Given the description of an element on the screen output the (x, y) to click on. 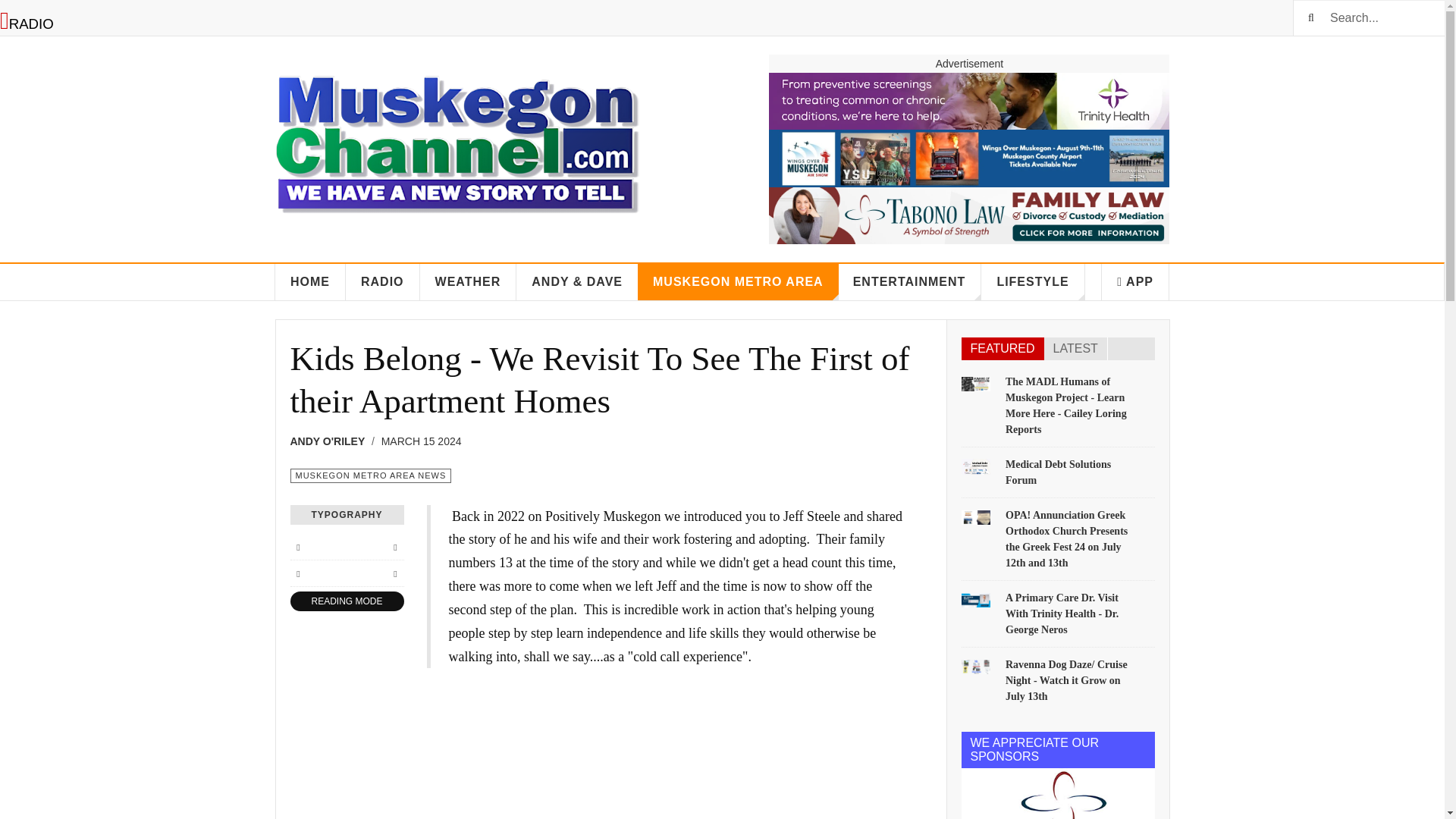
RADIO (383, 281)
MUSKEGON METRO AREA (737, 281)
Mercy Health Trinity (968, 100)
HOME (310, 281)
Play Online Radio (26, 24)
Wings Over Muskegon 24 (968, 157)
WEATHER (468, 281)
The Muskegon Channel (457, 135)
Tabono Law (968, 215)
